Given the description of an element on the screen output the (x, y) to click on. 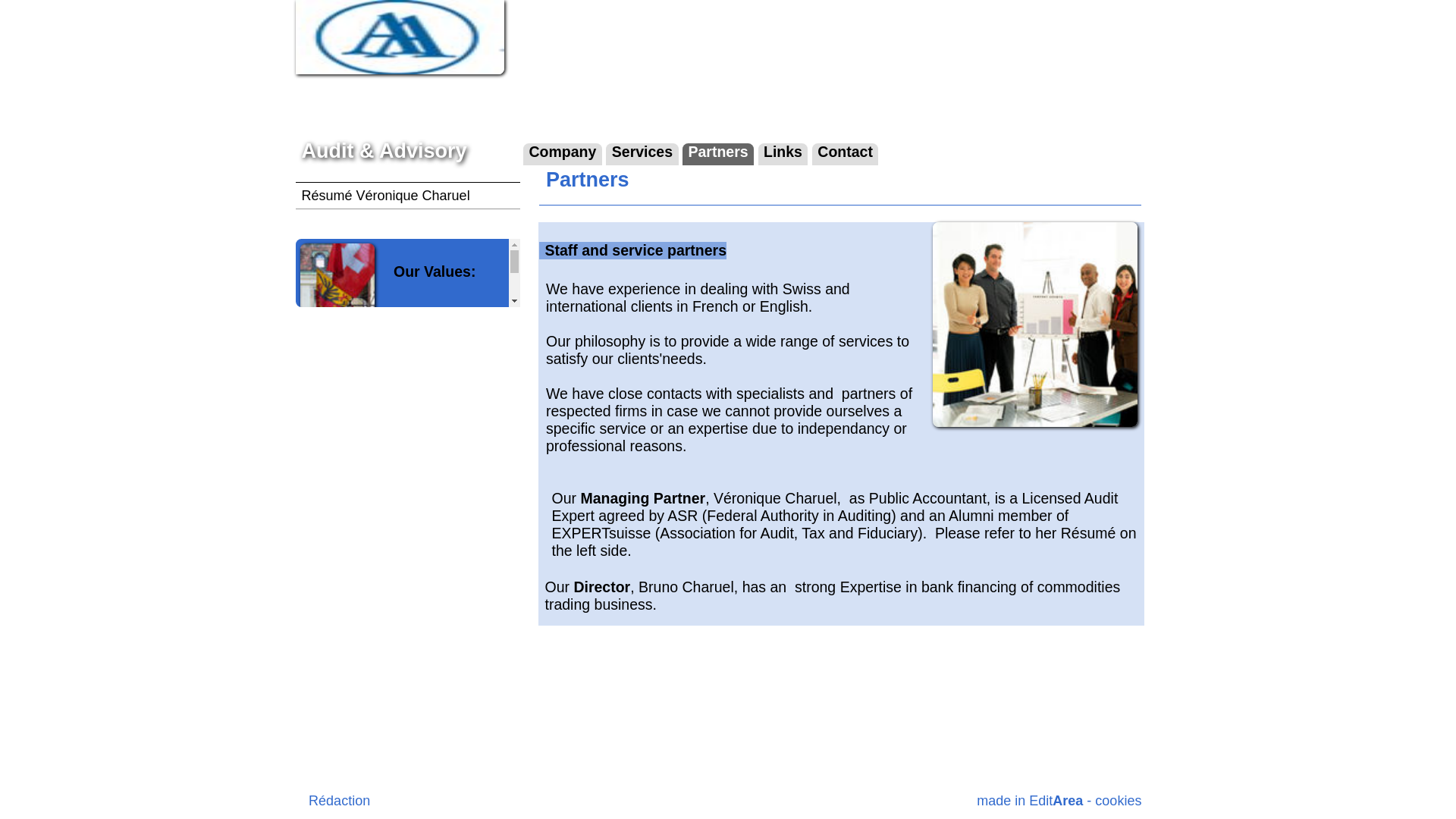
made in EditArea (686, 533)
Services (428, 102)
Company (375, 102)
cookies (745, 533)
Staff and service partners (689, 216)
Partners (478, 102)
Contact (563, 102)
Links (521, 102)
